Given the description of an element on the screen output the (x, y) to click on. 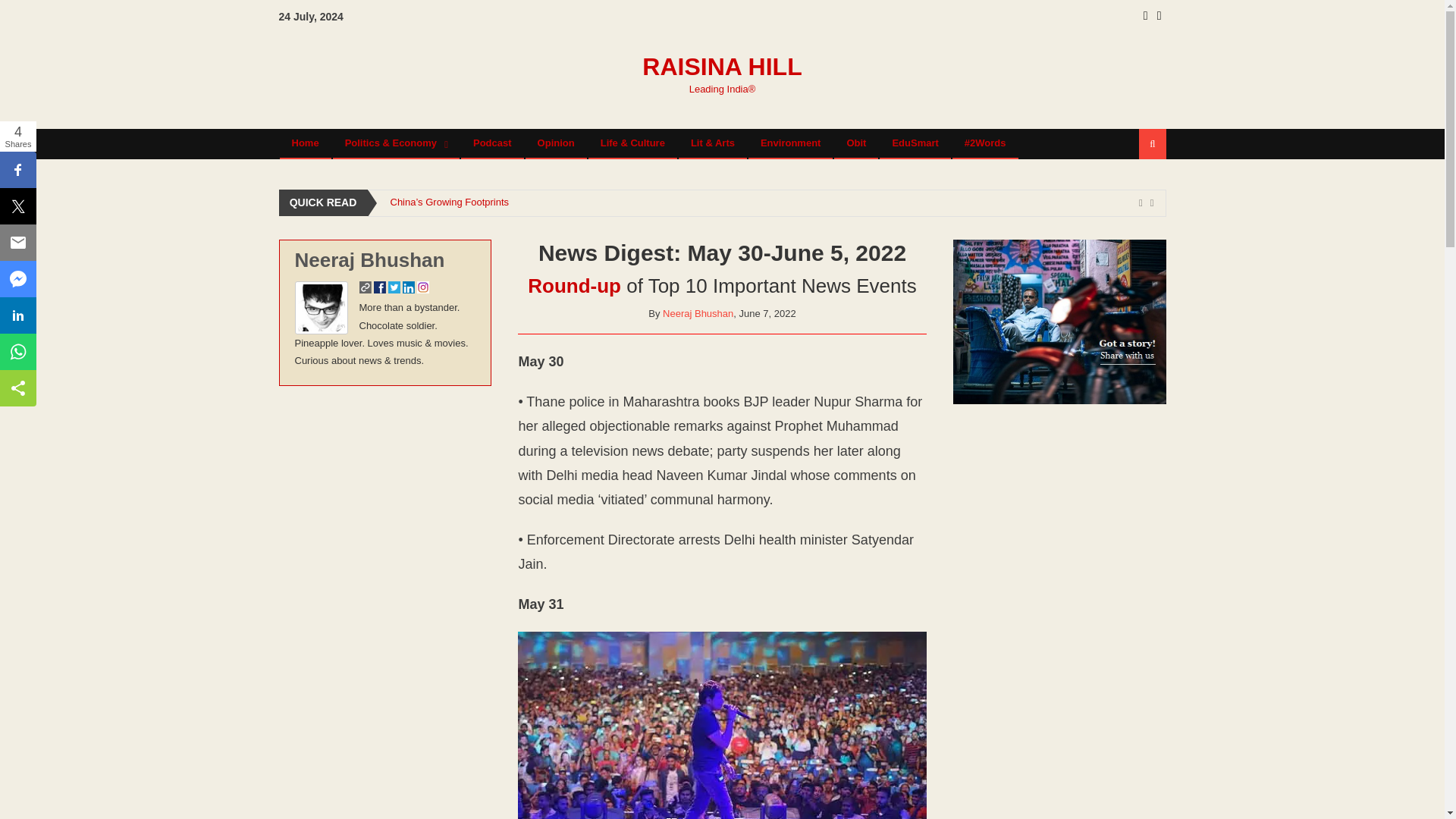
Neeraj Bhushan (697, 313)
Opinion (555, 143)
Home (305, 143)
Neeraj Bhushan (369, 259)
Search (1133, 194)
Posts by Neeraj Bhushan (697, 313)
Obit (855, 143)
RAISINA HILL (722, 66)
Environment (790, 143)
All posts by Neeraj Bhushan (369, 259)
EduSmart (914, 143)
Podcast (491, 143)
